Given the description of an element on the screen output the (x, y) to click on. 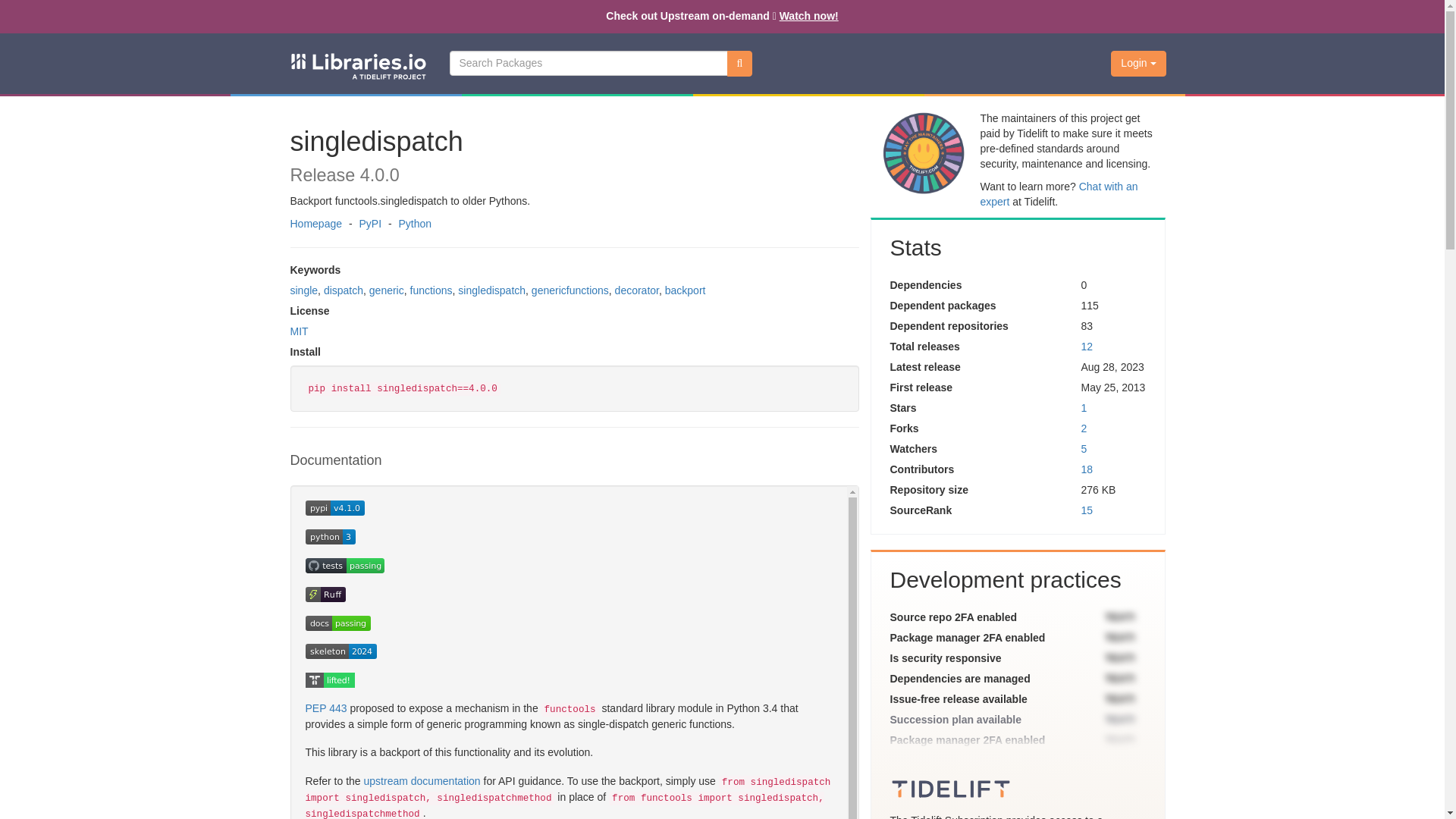
decorator (636, 290)
Aug 28, 2023 (1111, 367)
MIT (298, 331)
singledispatch (491, 290)
PyPI (369, 223)
functions (431, 290)
backport (685, 290)
generic (386, 290)
Python (413, 223)
Login (1138, 63)
Watch now! (808, 15)
May 25, 2013 (1112, 387)
single (303, 290)
Homepage (315, 223)
genericfunctions (569, 290)
